Given the description of an element on the screen output the (x, y) to click on. 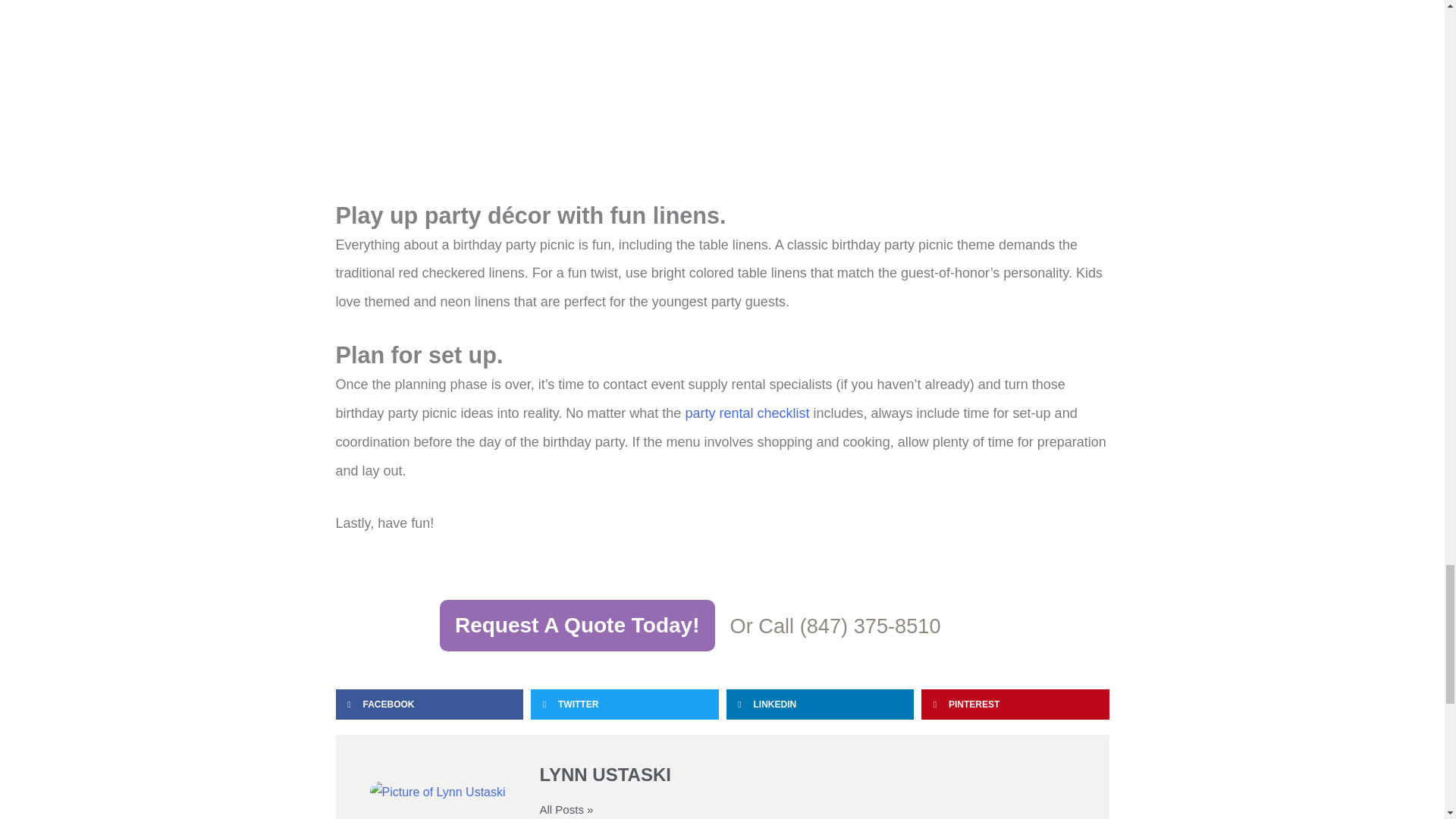
LYNN USTASKI (807, 774)
Request A Quote Today! (576, 625)
party rental checklist (746, 412)
